Given the description of an element on the screen output the (x, y) to click on. 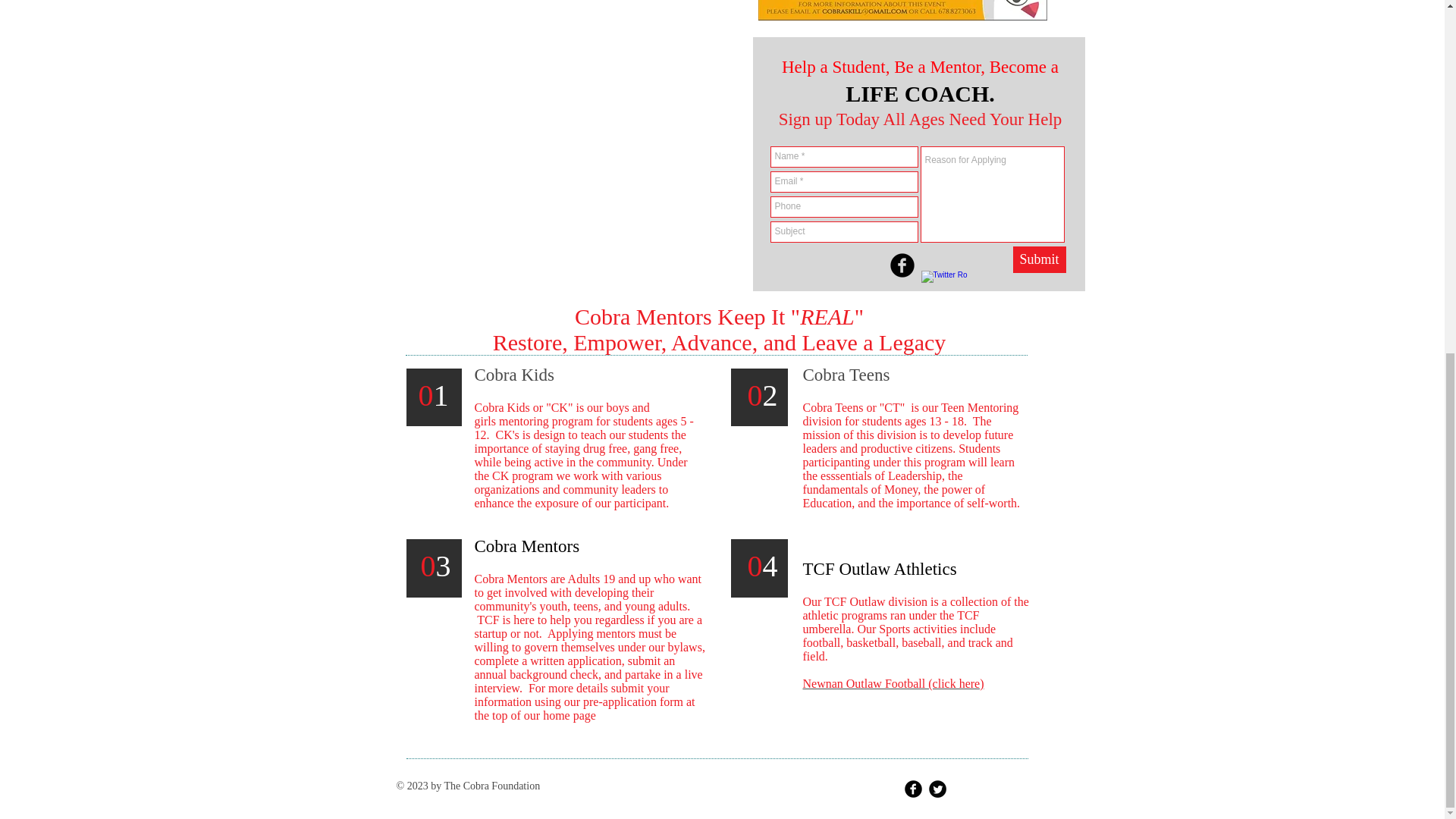
Submit (1039, 259)
